Given the description of an element on the screen output the (x, y) to click on. 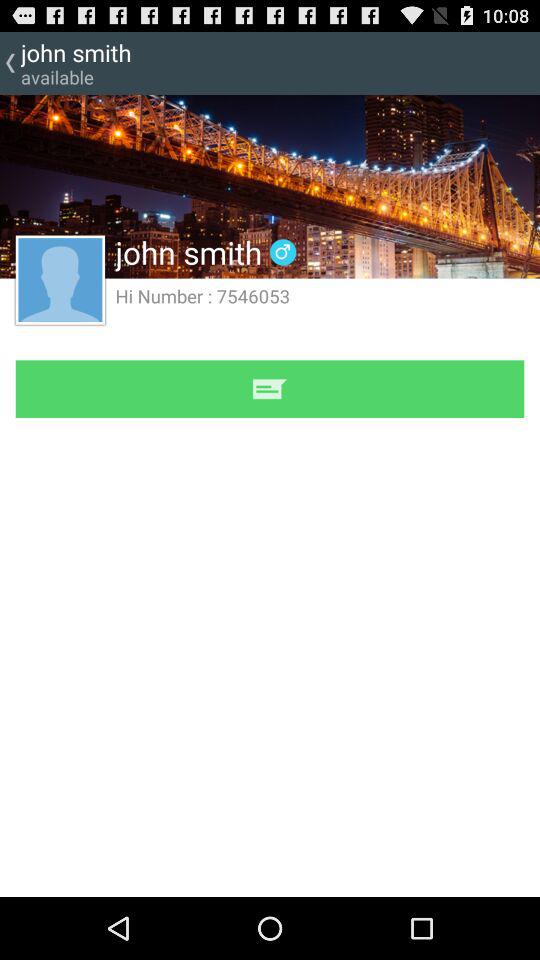
turn on the item next to the john smith icon (282, 251)
